Given the description of an element on the screen output the (x, y) to click on. 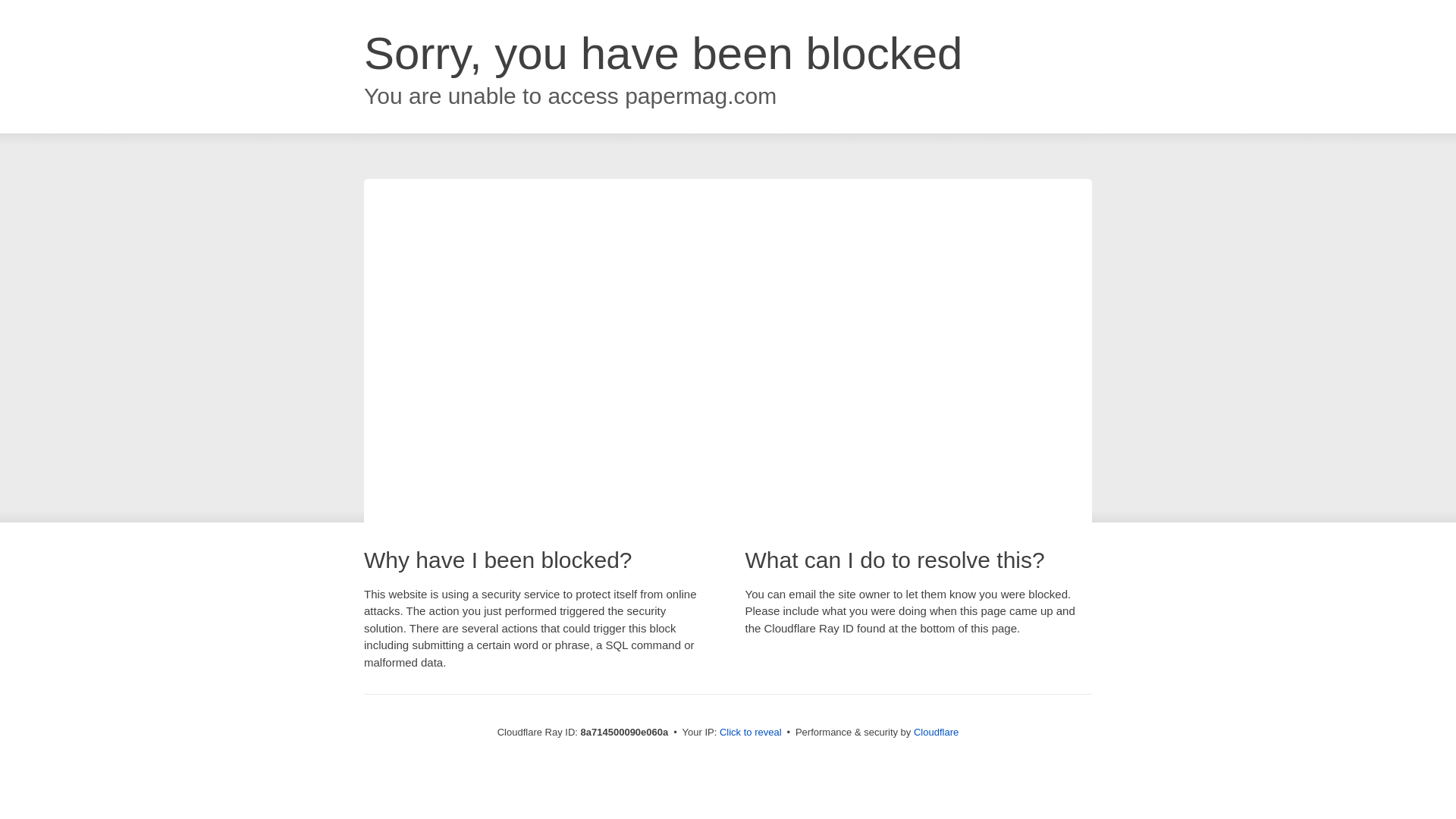
Click to reveal (750, 732)
Cloudflare (936, 731)
